Given the description of an element on the screen output the (x, y) to click on. 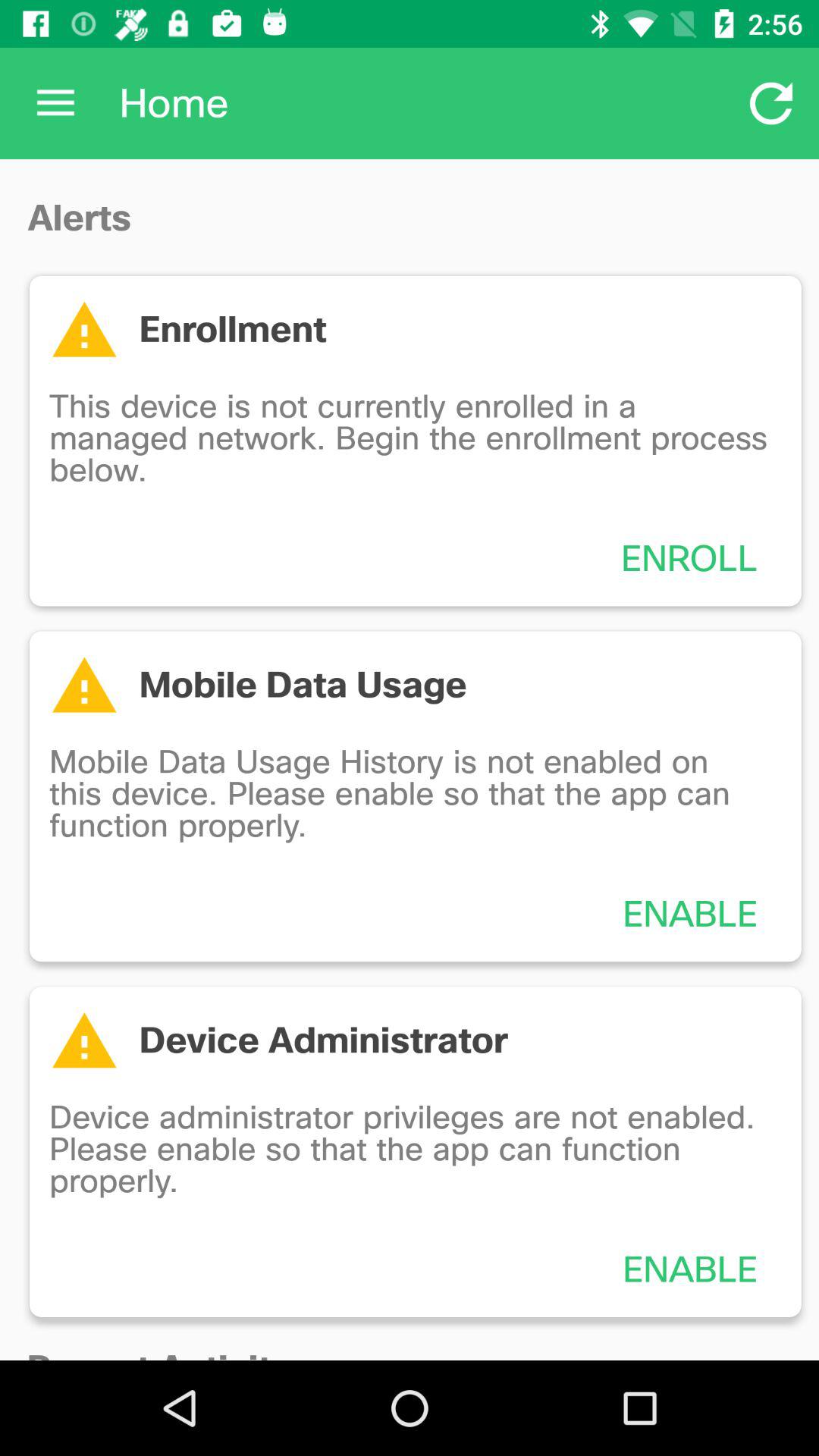
select item above the enrollment item (771, 103)
